Given the description of an element on the screen output the (x, y) to click on. 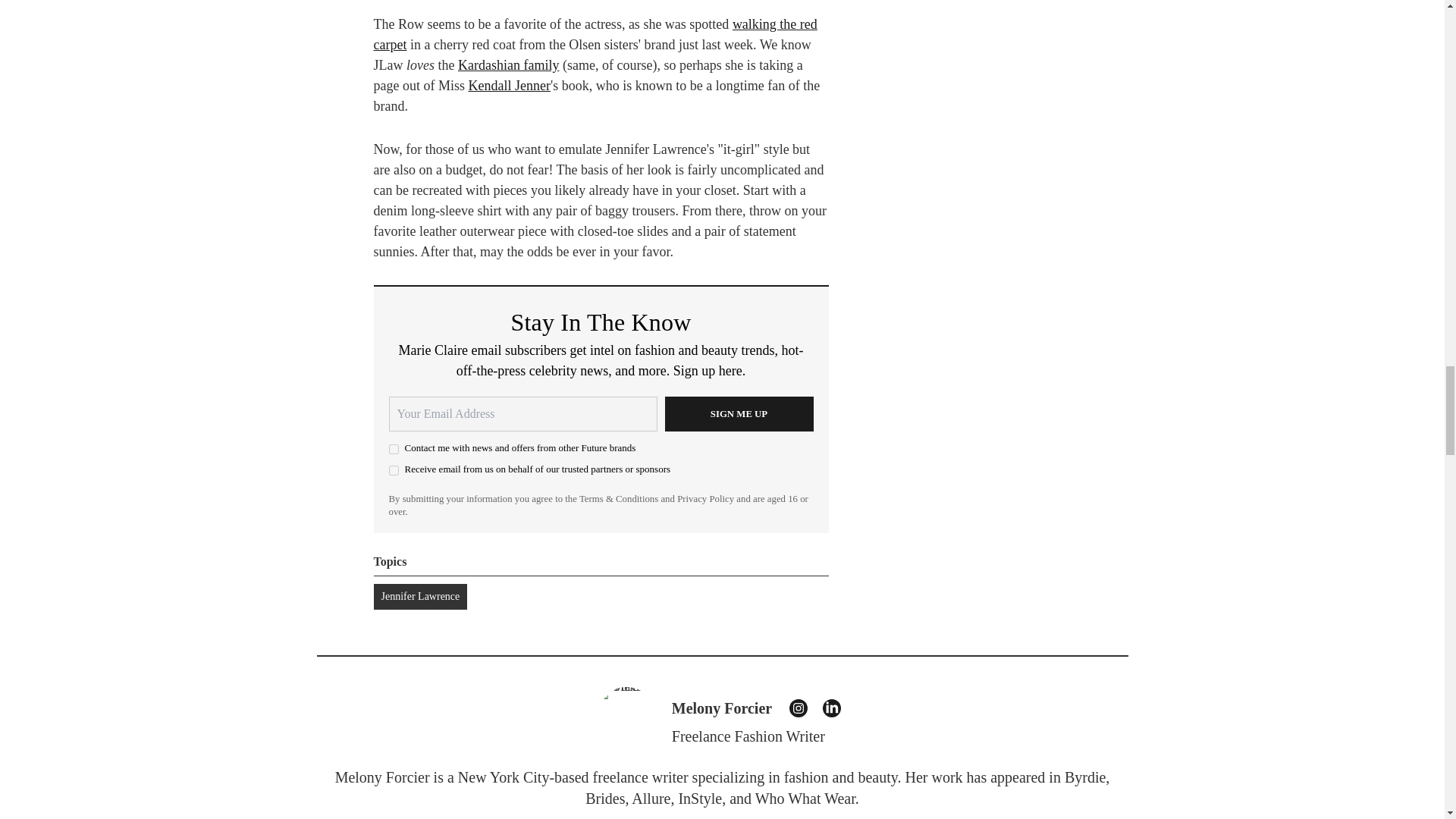
Sign me up (737, 413)
on (392, 470)
on (392, 449)
